Given the description of an element on the screen output the (x, y) to click on. 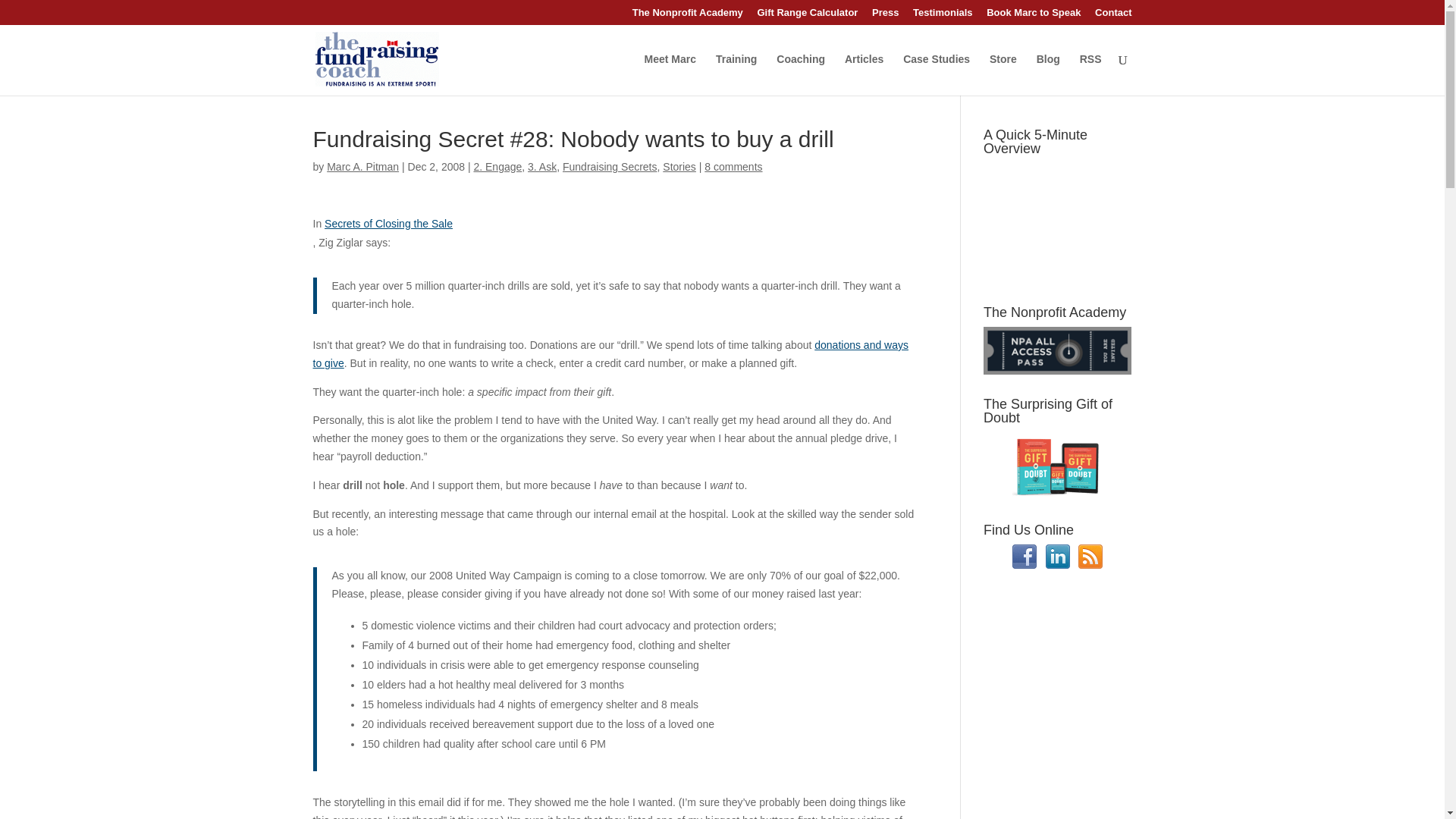
Fundraising Secrets (610, 166)
Coaching (800, 74)
Contact (1112, 16)
Articles (863, 74)
Stories (678, 166)
3. Ask (541, 166)
Secrets of Closing the Sale (388, 223)
Marc A. Pitman (362, 166)
Learn more about fundraising coaching (800, 74)
